Given the description of an element on the screen output the (x, y) to click on. 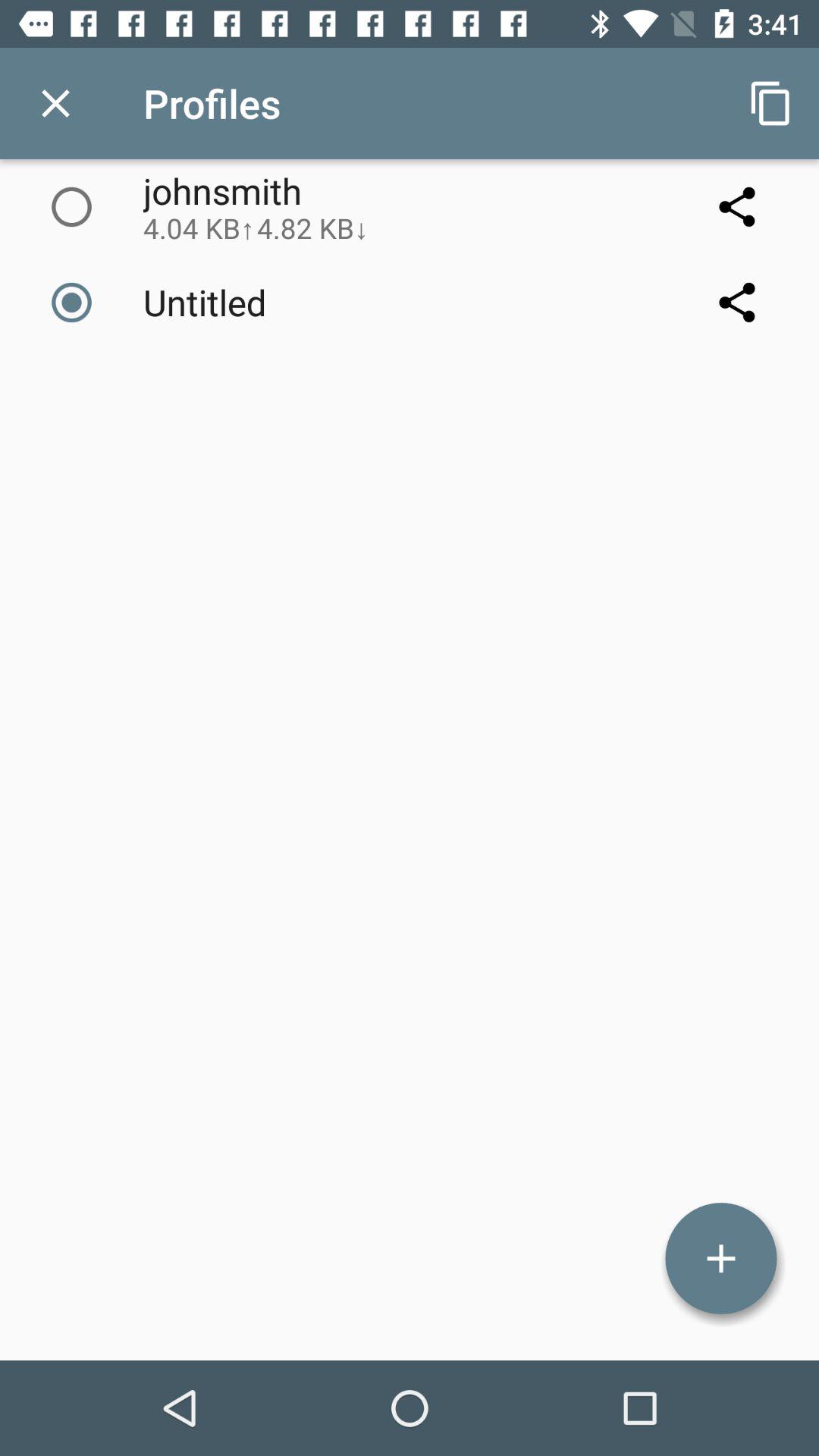
add profile (721, 1258)
